Given the description of an element on the screen output the (x, y) to click on. 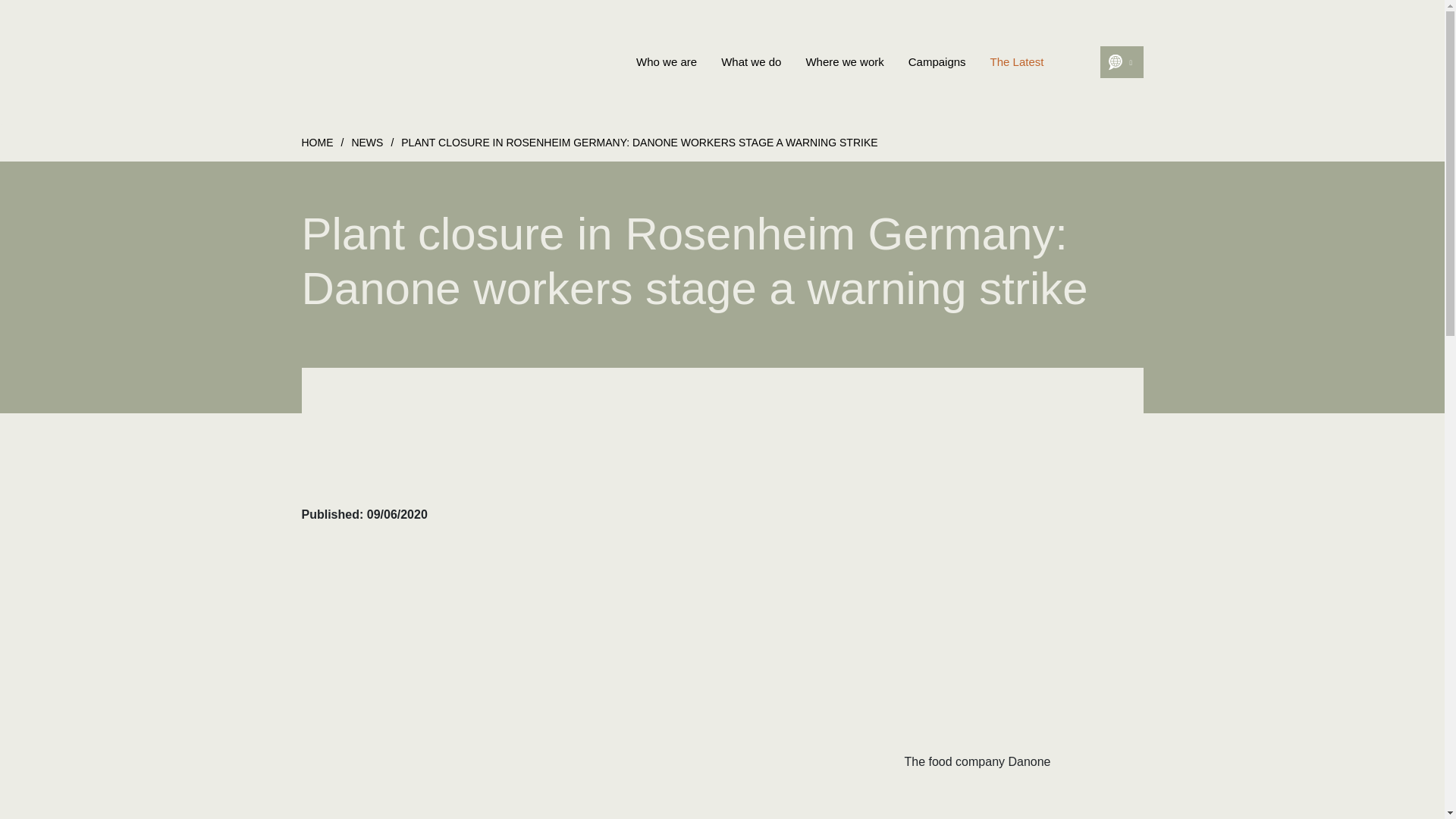
What we do (751, 62)
Who we are (666, 62)
Where we work (844, 62)
What we do (751, 62)
Who we are (666, 62)
